Given the description of an element on the screen output the (x, y) to click on. 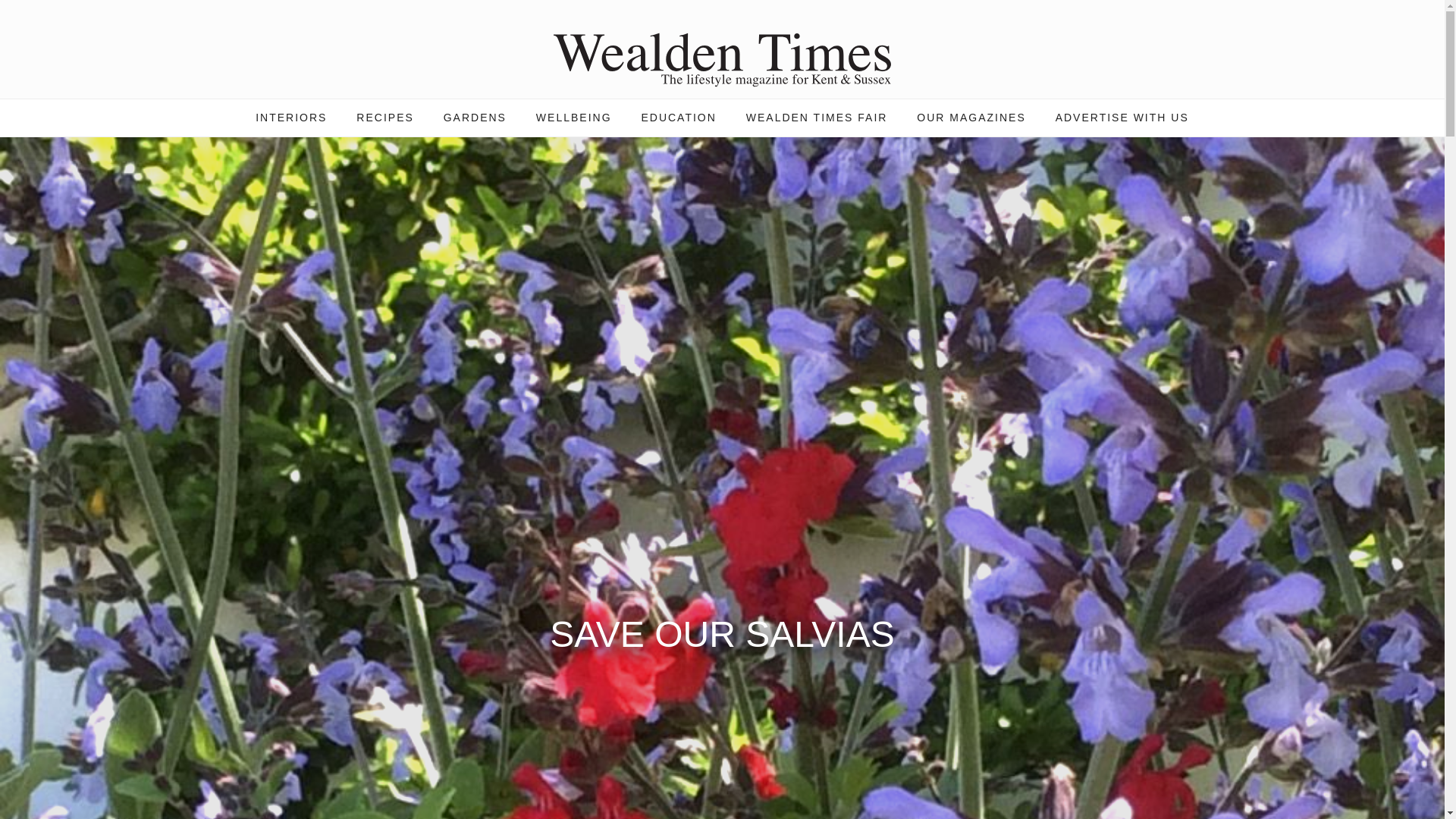
ADVERTISE WITH US (1122, 117)
GARDENS (474, 117)
WELLBEING (573, 117)
EDUCATION (678, 117)
RECIPES (384, 117)
INTERIORS (291, 117)
OUR MAGAZINES (971, 117)
WEALDEN TIMES FAIR (816, 117)
